Given the description of an element on the screen output the (x, y) to click on. 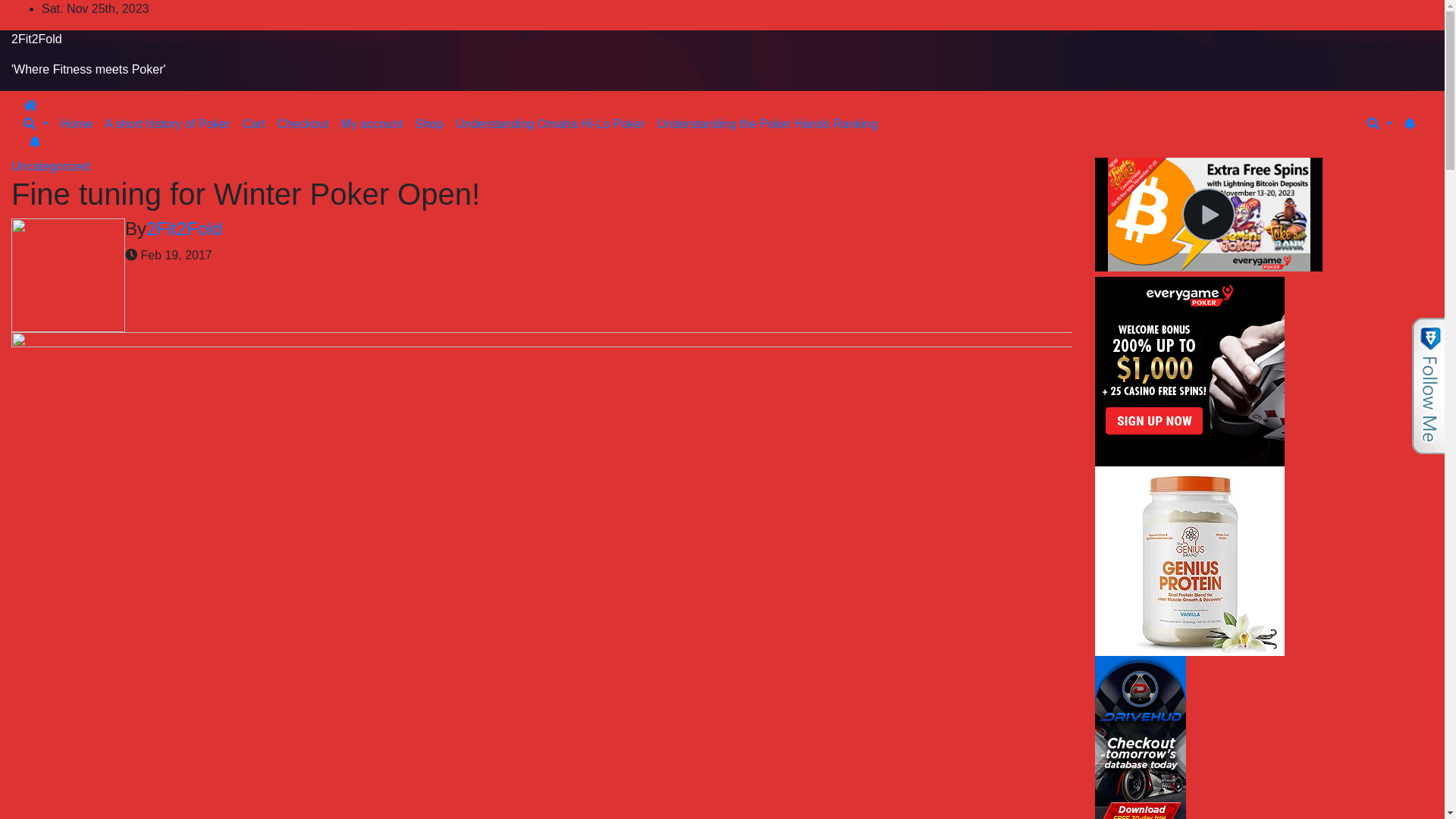
Understanding the Poker Hands Ranking Element type: text (767, 124)
Shop Element type: text (428, 124)
2Fit2Fold Element type: text (184, 228)
A short history of Poker Element type: text (166, 124)
My account Element type: text (371, 124)
Uncategorized Element type: text (50, 166)
Understanding Omaha Hi-Lo Poker Element type: text (550, 124)
Home Element type: text (76, 124)
Checkout Element type: text (303, 124)
Cart Element type: text (253, 124)
2Fit2Fold Element type: text (36, 38)
Fine tuning for Winter Poker Open! Element type: text (245, 193)
